Given the description of an element on the screen output the (x, y) to click on. 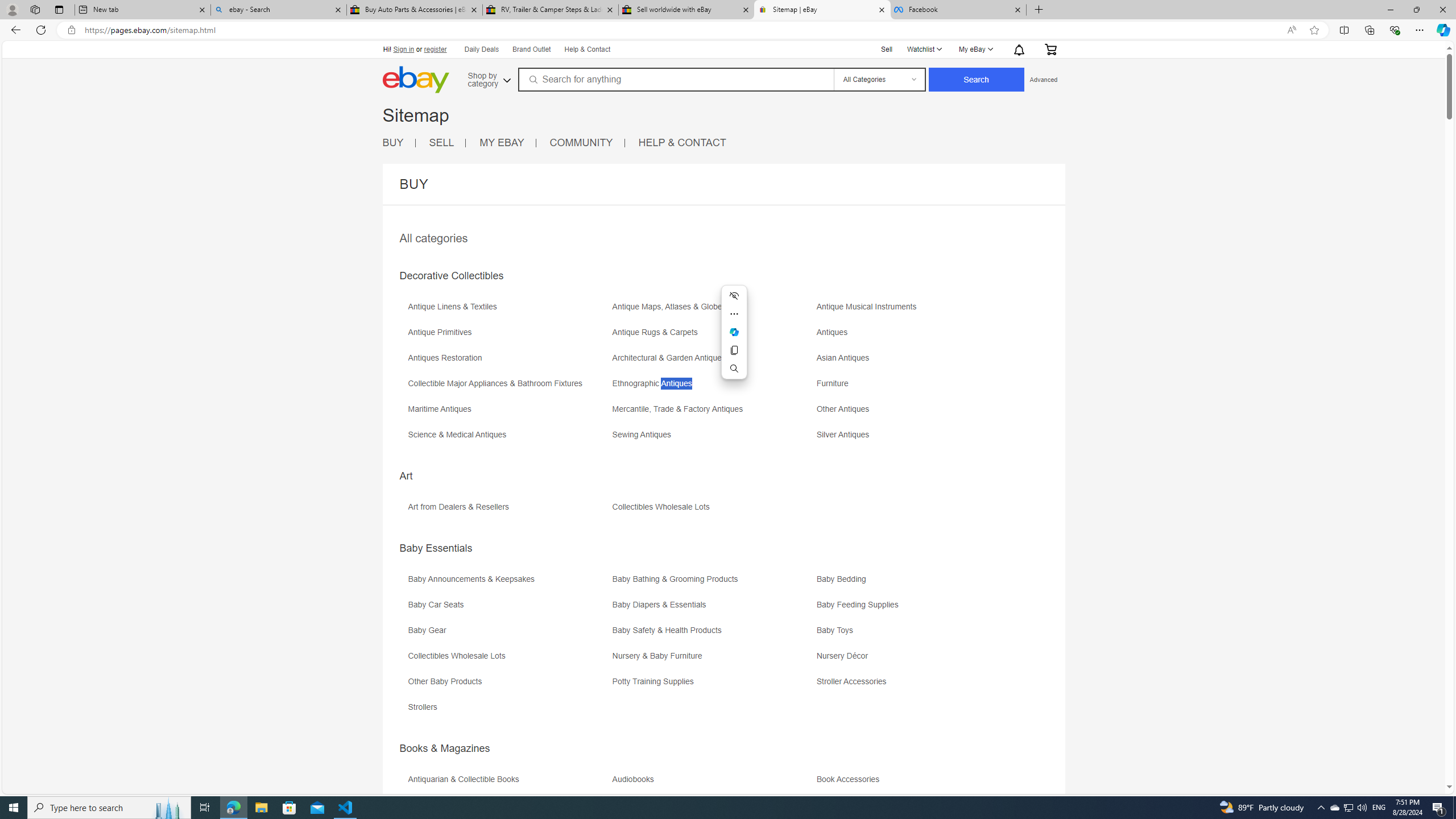
Brand Outlet (531, 49)
